Given the description of an element on the screen output the (x, y) to click on. 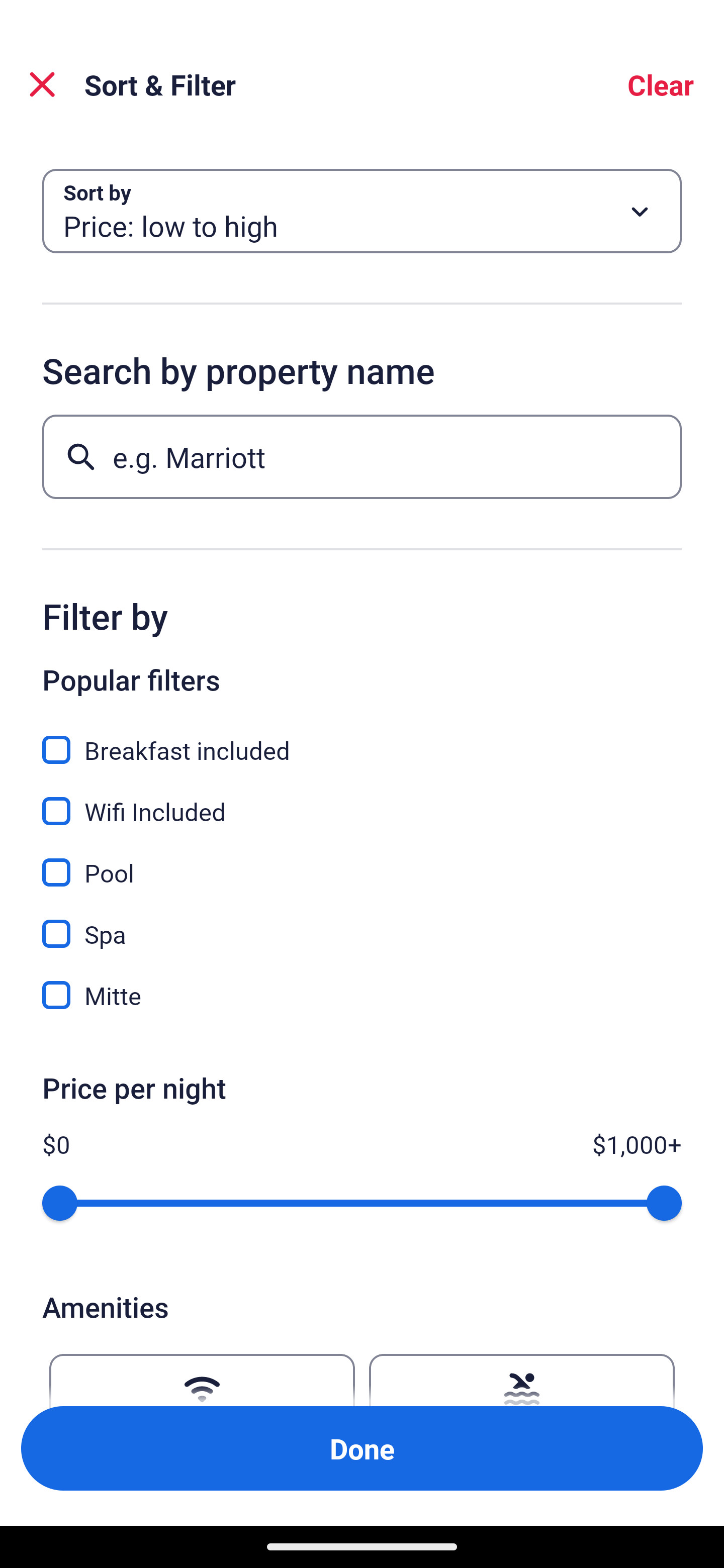
Close Sort and Filter (42, 84)
Clear (660, 84)
Sort by Button Price: low to high (361, 211)
e.g. Marriott Button (361, 455)
Breakfast included, Breakfast included (361, 738)
Wifi Included, Wifi Included (361, 800)
Pool, Pool (361, 861)
Spa, Spa (361, 922)
Mitte, Mitte (361, 995)
Apply and close Sort and Filter Done (361, 1448)
